Given the description of an element on the screen output the (x, y) to click on. 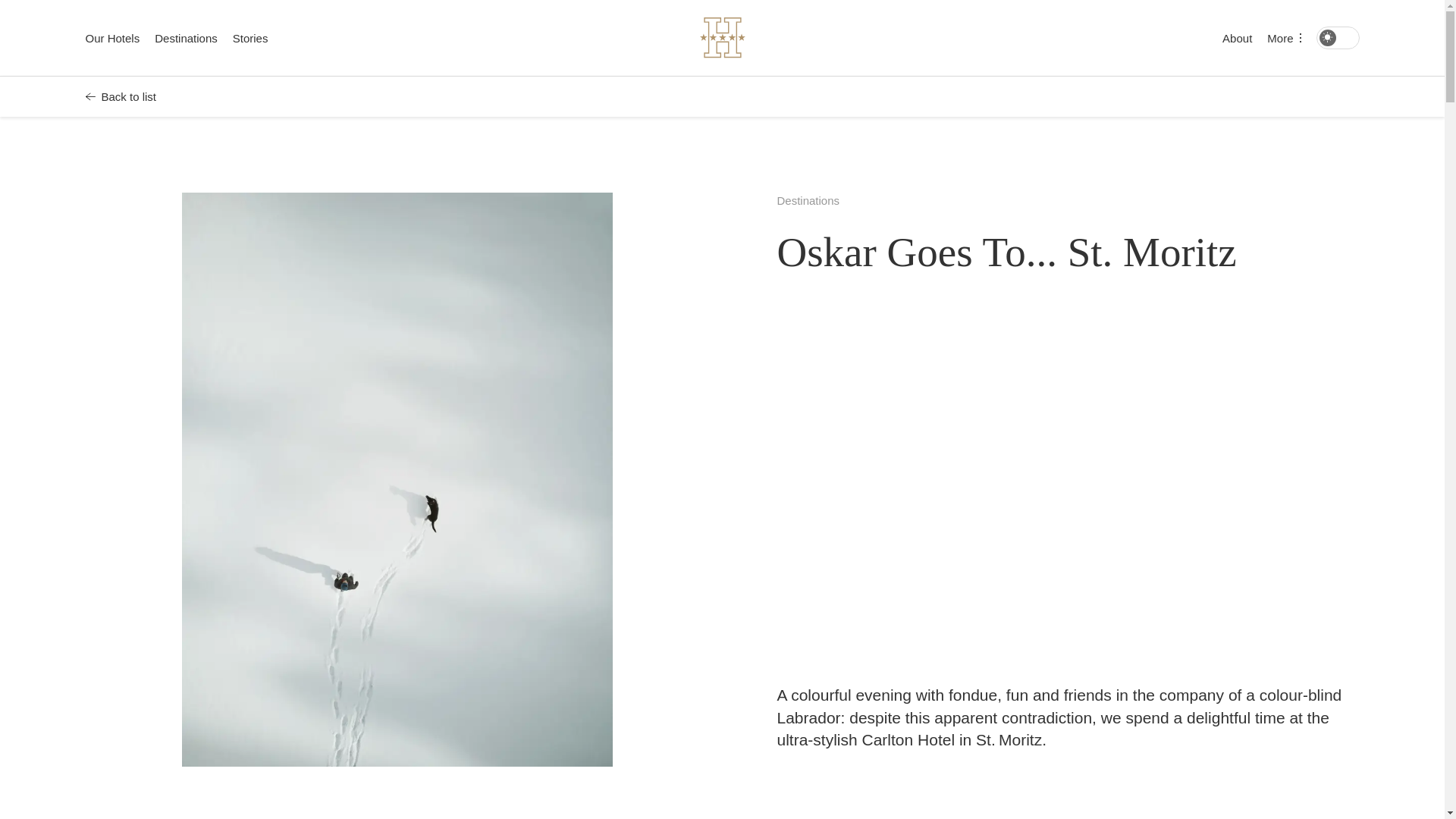
Destinations (808, 200)
Stories (249, 38)
Destinations (185, 38)
Our Hotels (111, 38)
Back to list (119, 95)
More (1283, 37)
About (1237, 38)
